Given the description of an element on the screen output the (x, y) to click on. 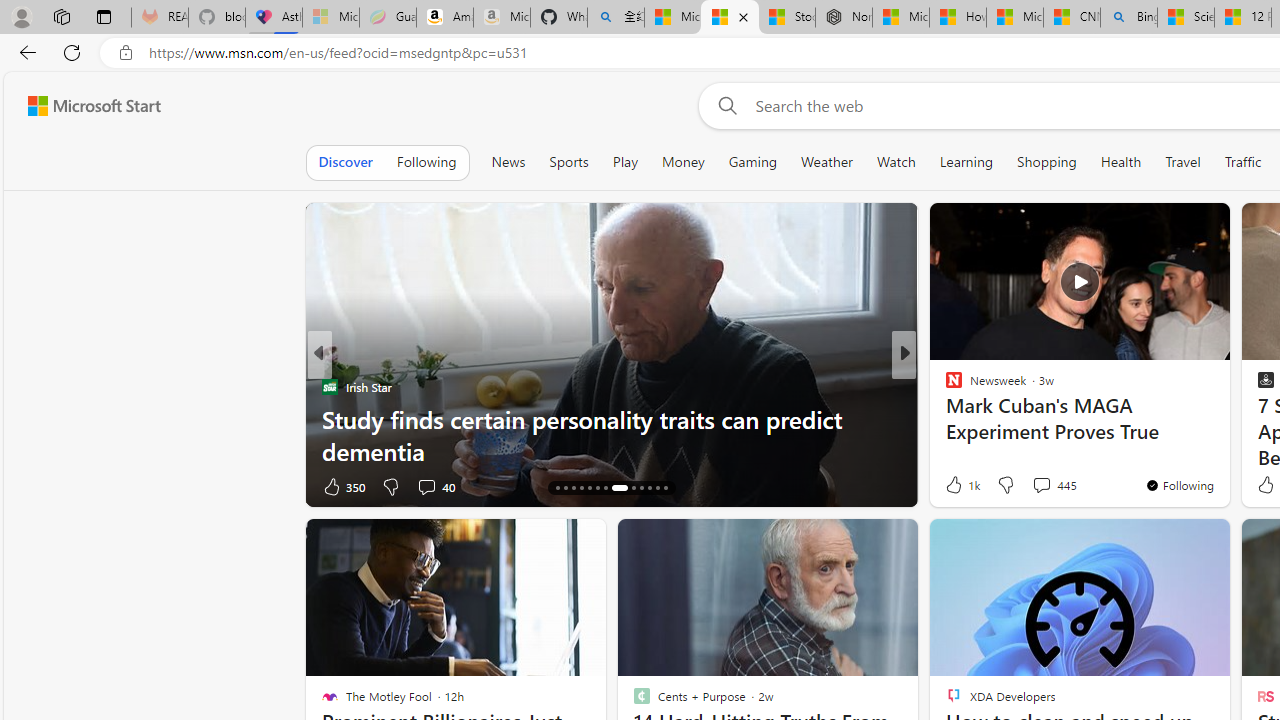
CNN - MSN (1071, 17)
Study finds certain personality traits can predict dementia (611, 435)
